Given the description of an element on the screen output the (x, y) to click on. 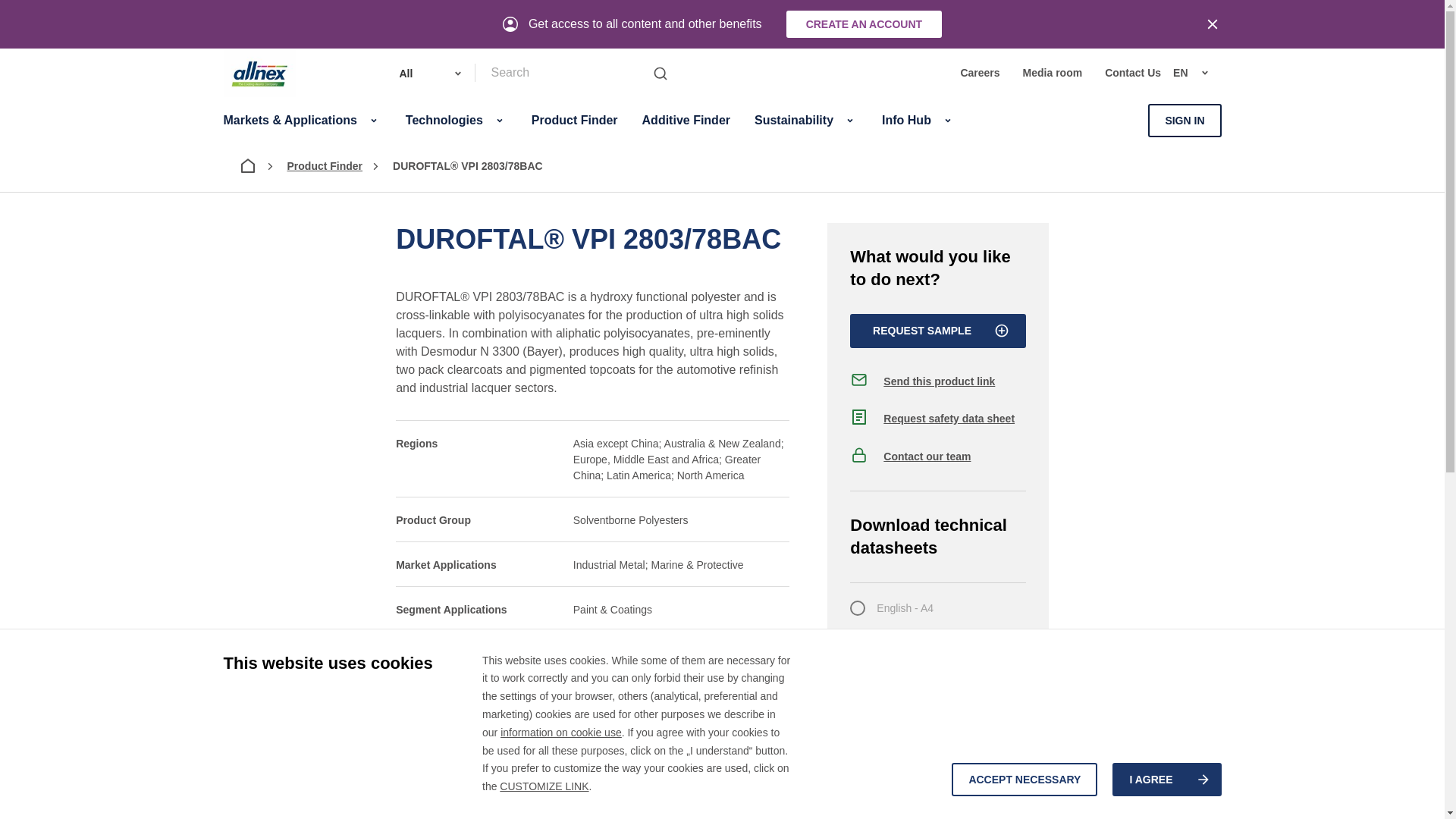
information on cookie use (560, 732)
ACCEPT NECESSARY (1024, 779)
EN (1163, 221)
Media room (1053, 73)
Careers (978, 73)
EN (1197, 72)
I AGREE (1166, 779)
Change the language (1197, 72)
CUSTOMIZE LINK (543, 786)
Submit (660, 73)
